Given the description of an element on the screen output the (x, y) to click on. 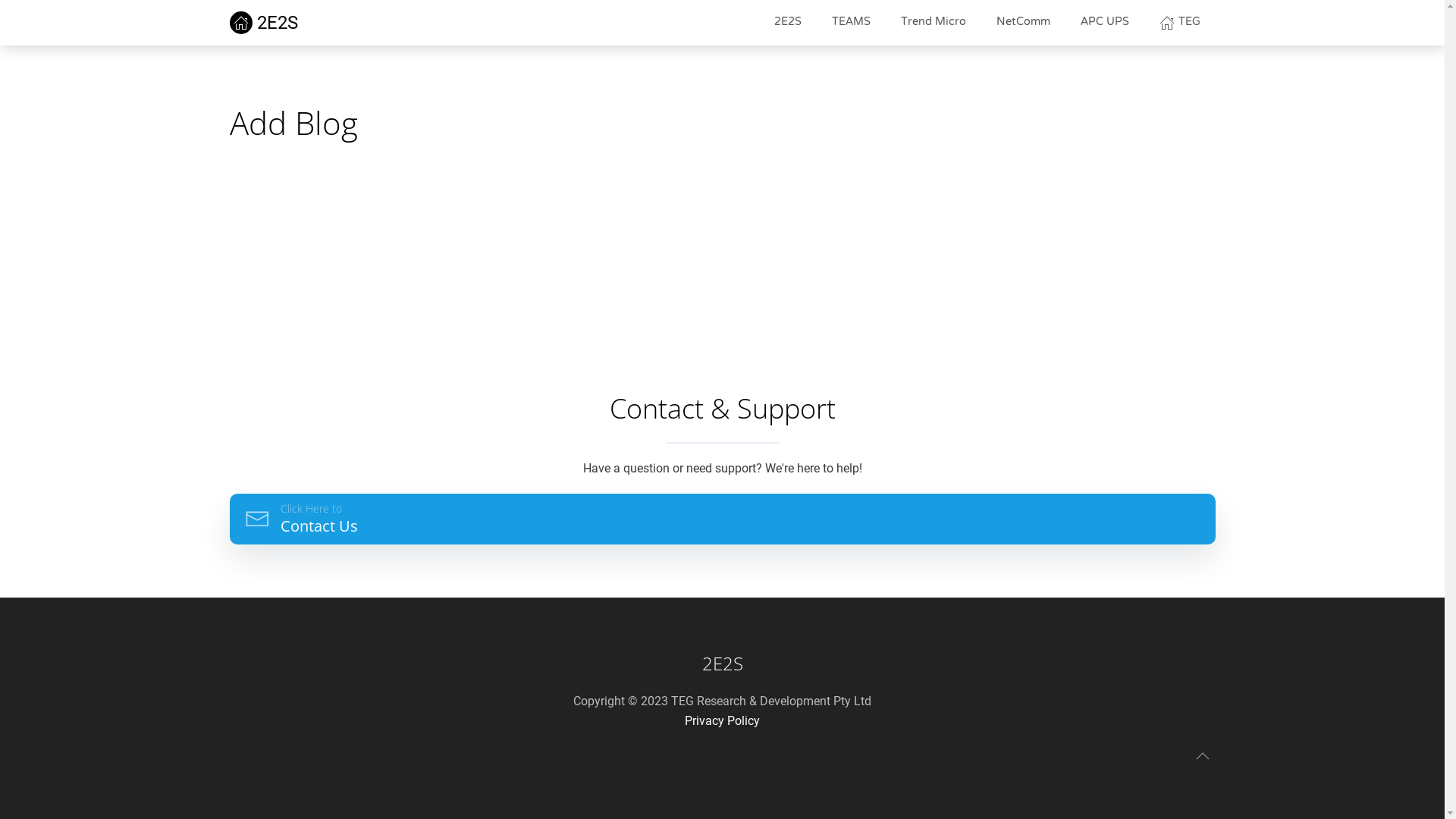
APC UPS Element type: text (1104, 22)
Trend Micro Element type: text (933, 22)
TEAMS Element type: text (850, 22)
Click Here to
Contact Us Element type: text (721, 519)
2E2S Element type: text (787, 22)
Privacy Policy Element type: text (721, 720)
TEG Element type: text (1179, 22)
NetComm Element type: text (1023, 22)
2E2S Element type: text (263, 22)
